Given the description of an element on the screen output the (x, y) to click on. 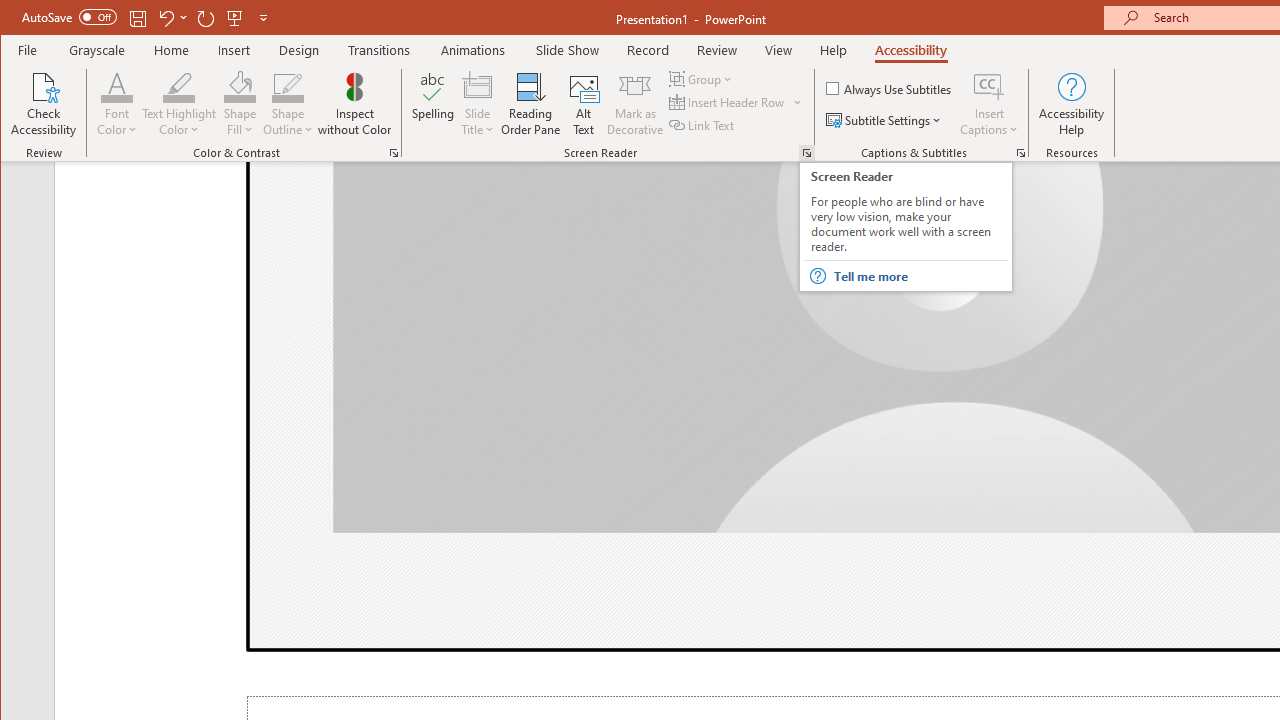
Subtitle Settings (885, 119)
Always Use Subtitles (890, 88)
Shape Outline (288, 104)
Insert Captions (989, 86)
